Given the description of an element on the screen output the (x, y) to click on. 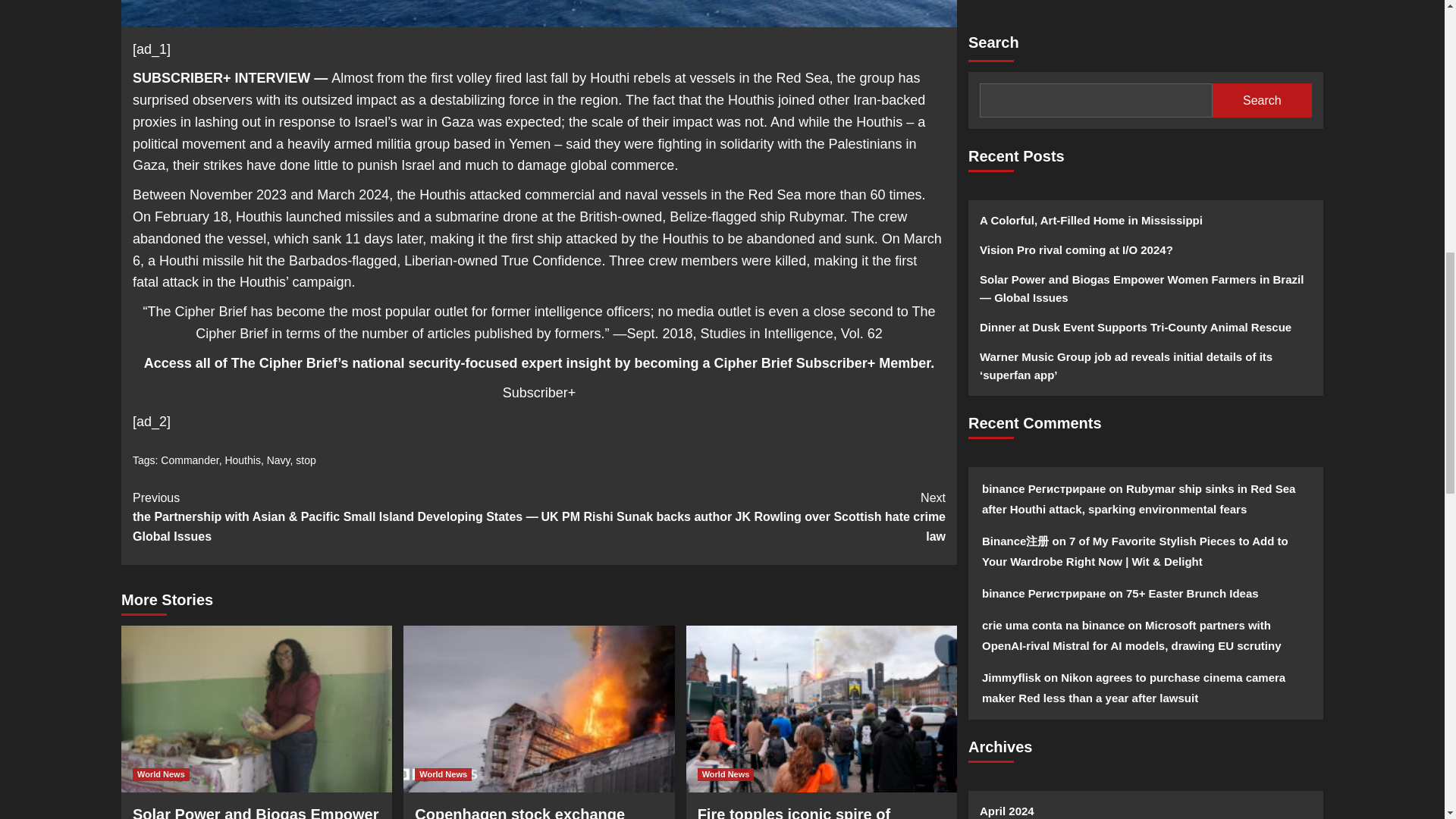
World News (160, 774)
Rubymar (816, 216)
True Confidence (550, 260)
Commander (189, 460)
Houthis (242, 460)
more than 60 times (863, 194)
Navy (277, 460)
stop (305, 460)
